Given the description of an element on the screen output the (x, y) to click on. 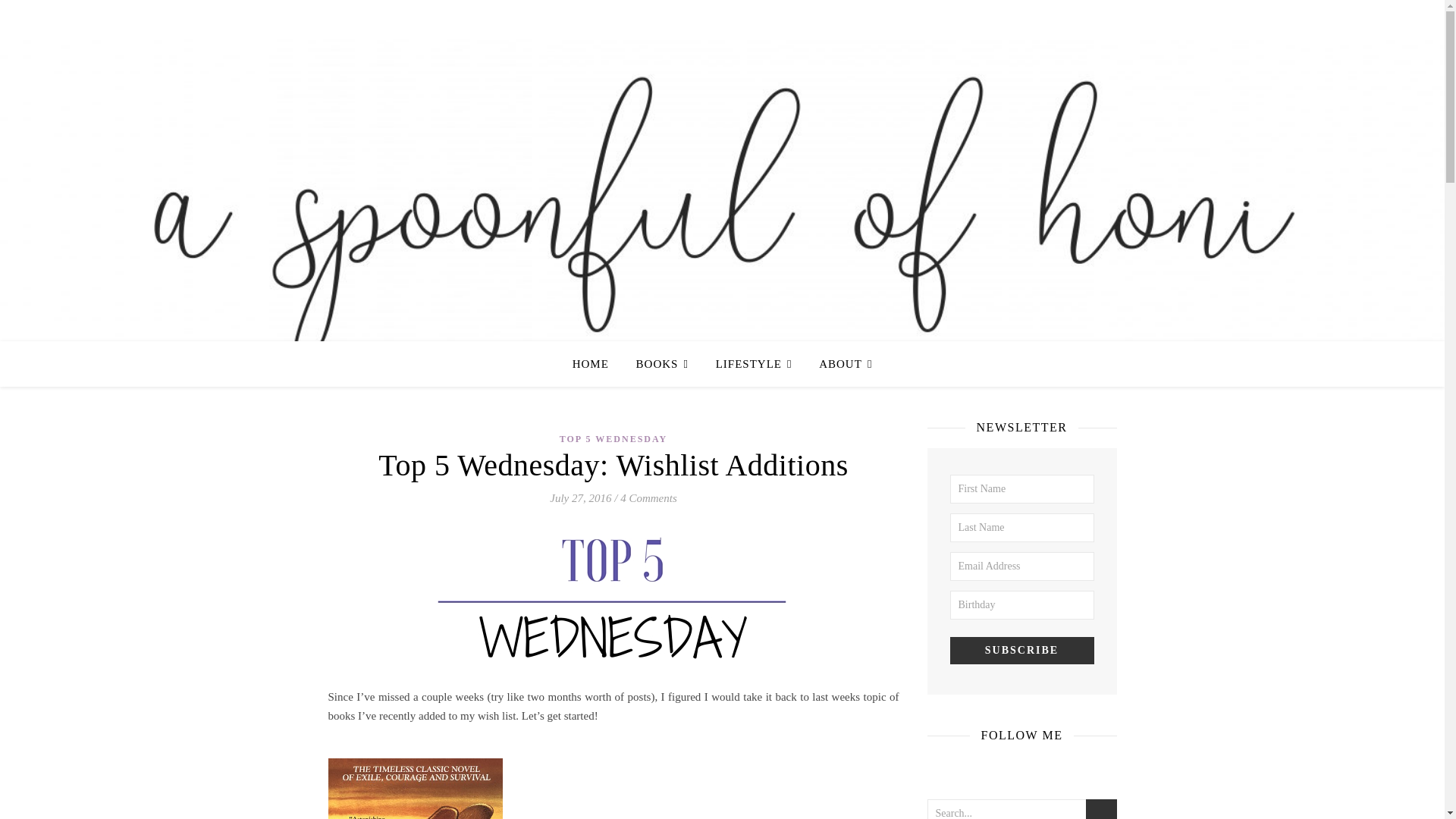
Subscribe (1021, 650)
LIFESTYLE (754, 363)
ABOUT (839, 363)
HOME (596, 363)
4 Comments (648, 498)
TOP 5 WEDNESDAY (612, 439)
BOOKS (662, 363)
